Given the description of an element on the screen output the (x, y) to click on. 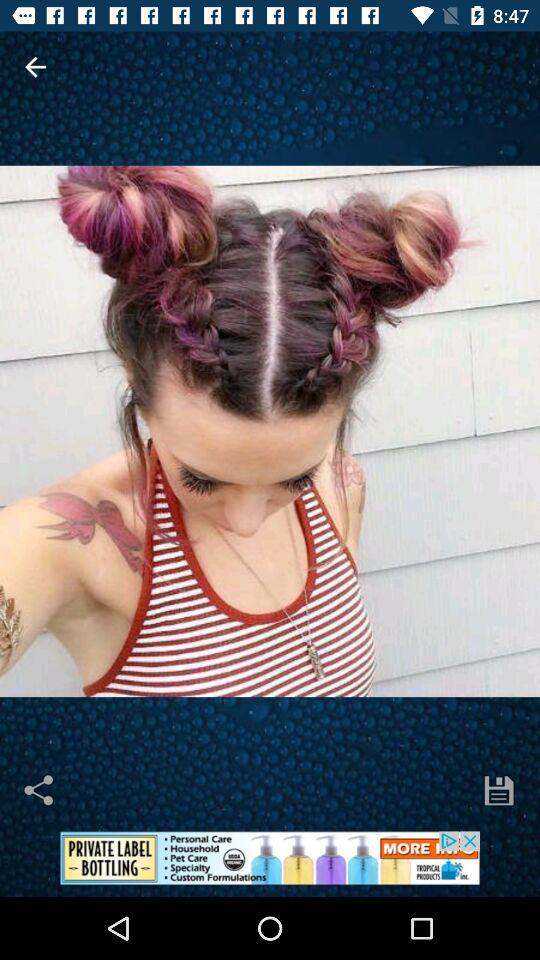
enlarges image (270, 431)
